Given the description of an element on the screen output the (x, y) to click on. 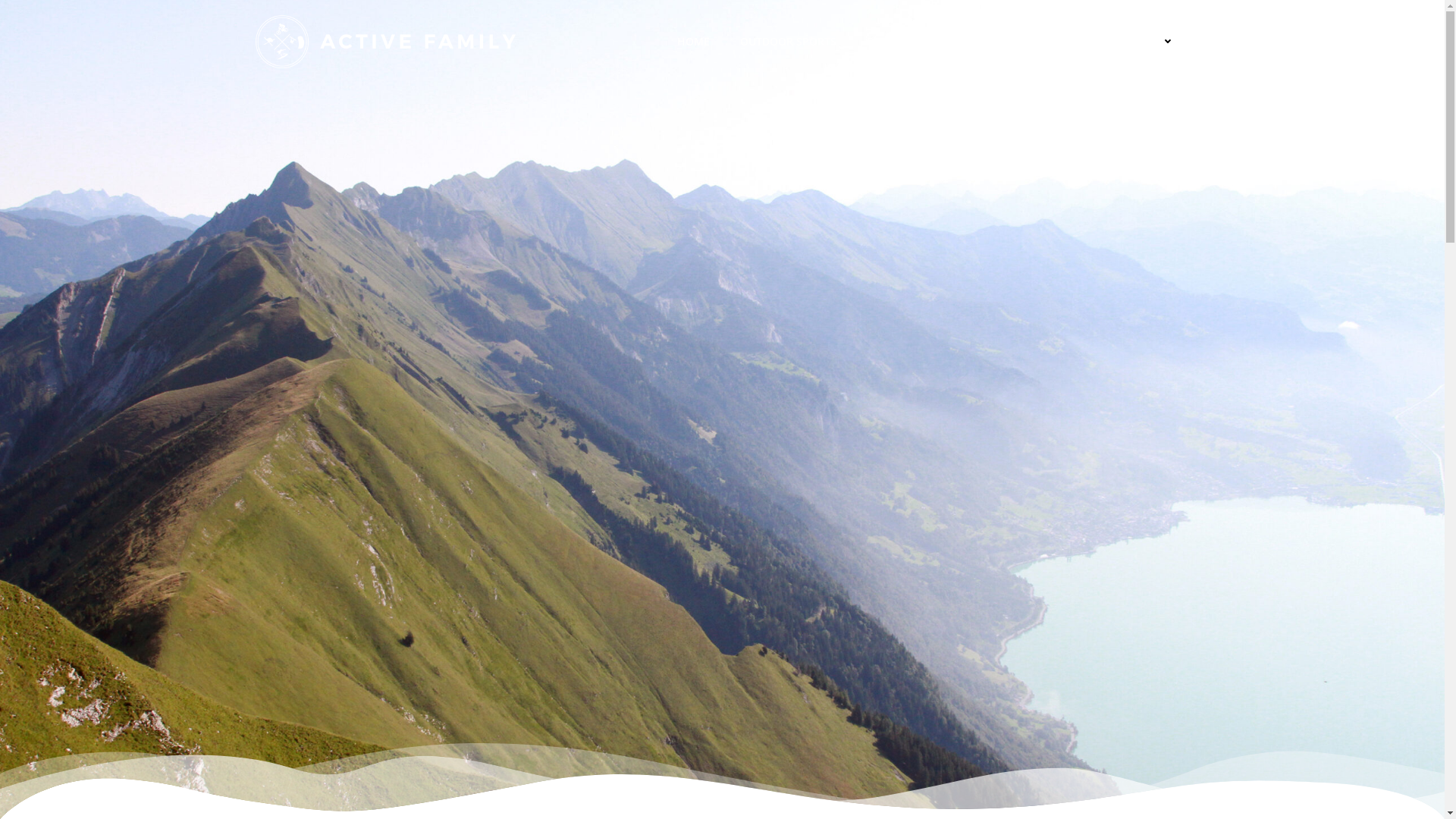
FOOD & HEALTH Element type: text (908, 41)
ABOUT US Element type: text (1141, 41)
OUTDOOR SPORTS Element type: text (788, 41)
PLACES Element type: text (1000, 41)
GEAR Element type: text (1064, 41)
HOME Element type: text (692, 41)
